Given the description of an element on the screen output the (x, y) to click on. 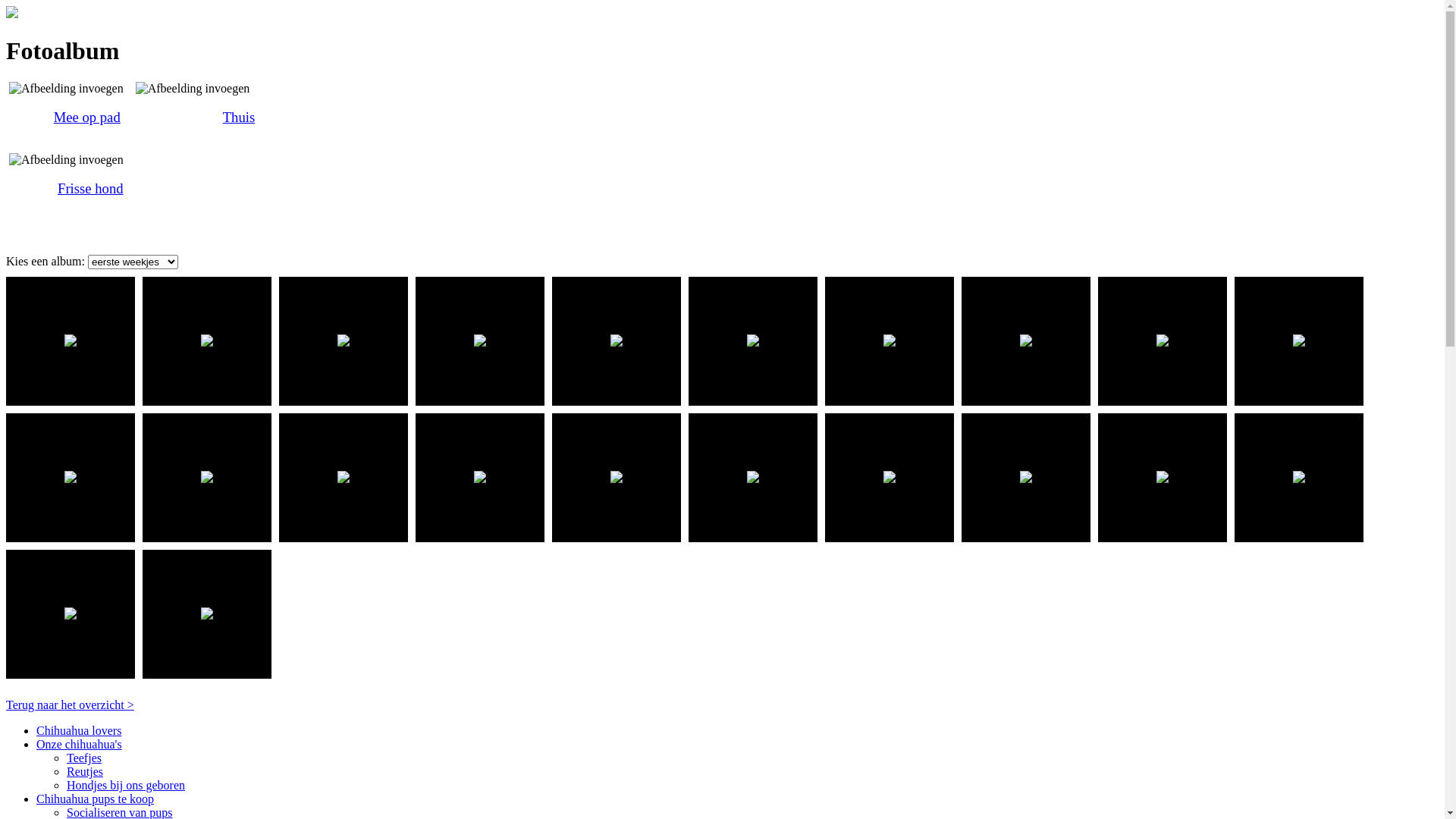
Frisse hond Element type: text (90, 188)
Hondjes bij ons geboren Element type: text (125, 784)
Teefjes Element type: text (83, 757)
Reutjes Element type: text (84, 771)
Mee op pad Element type: text (86, 117)
Chihuahua lovers Element type: text (78, 730)
Terug naar het overzicht > Element type: text (70, 704)
Chihuahua pups te koop Element type: text (94, 798)
Onze chihuahua's Element type: text (79, 743)
Thuis Element type: text (238, 117)
